Given the description of an element on the screen output the (x, y) to click on. 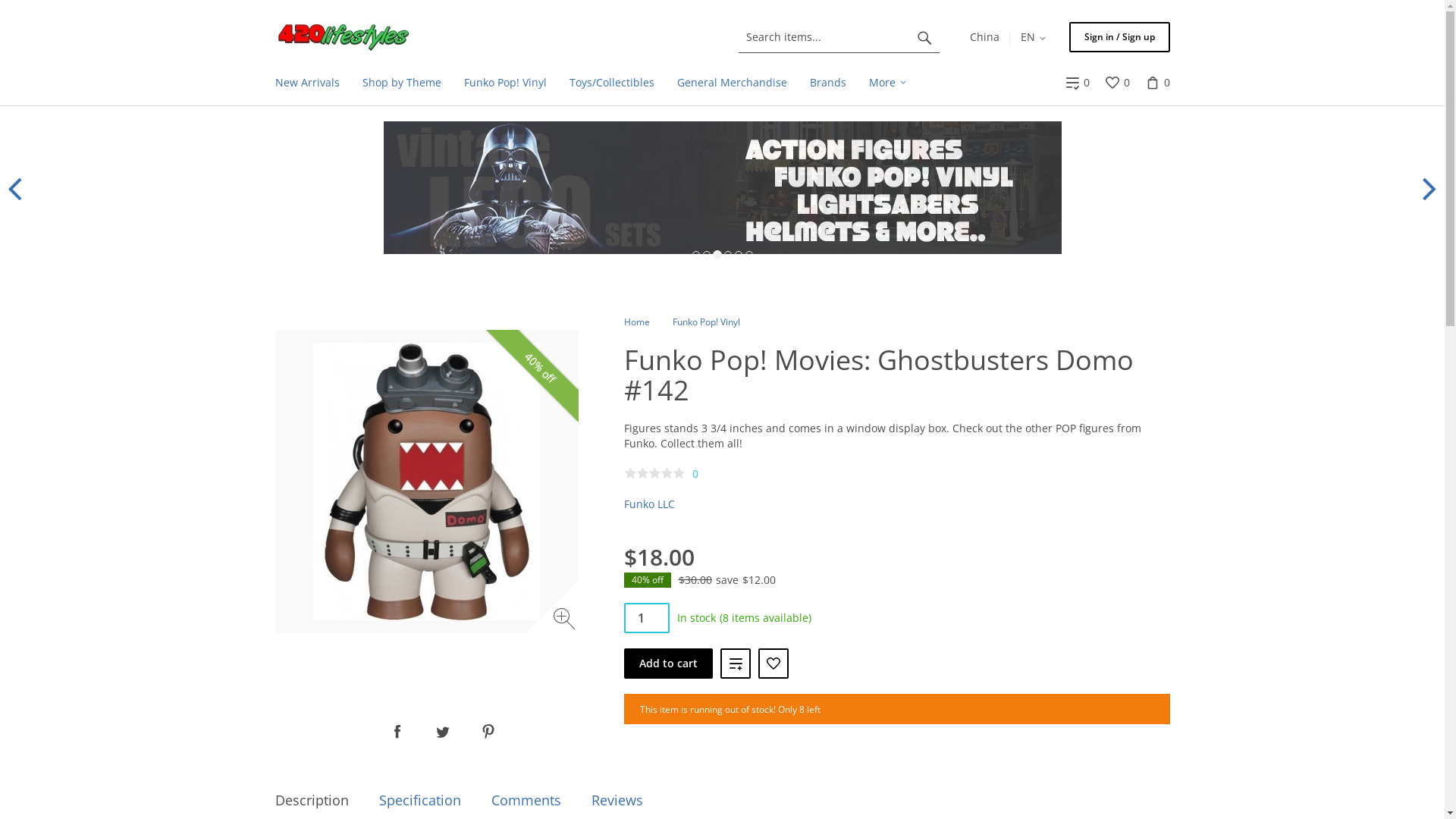
Comments Element type: text (526, 799)
Sign in / Sign up Element type: text (1119, 36)
Shop by Theme Element type: text (400, 82)
0 Element type: text (1116, 82)
1 Element type: text (645, 617)
Toys/Collectibles Element type: text (611, 82)
Brands Element type: text (826, 82)
Reviews Element type: text (617, 799)
Funko Pop! Vinyl Element type: text (504, 82)
Add to cart Element type: text (667, 663)
New Arrivals Element type: text (307, 82)
0 Element type: text (1076, 82)
Description Element type: text (311, 799)
Search Element type: hover (923, 36)
Funko LLC Element type: text (648, 503)
China
EN Element type: text (1007, 36)
Home Element type: text (636, 321)
General Merchandise Element type: text (731, 82)
Quantity Element type: hover (645, 617)
Home Element type: hover (343, 36)
Specification Element type: text (420, 799)
Funko Pop! Vinyl Element type: text (705, 321)
